Given the description of an element on the screen output the (x, y) to click on. 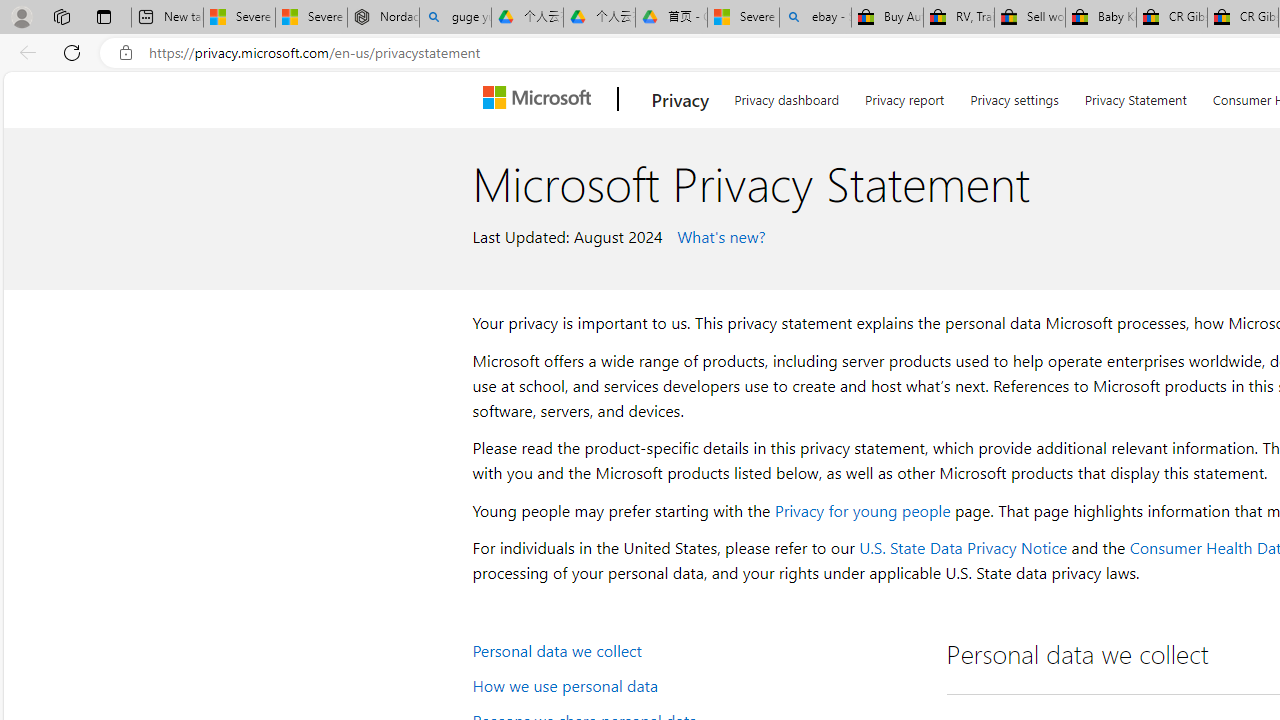
Privacy for young people (862, 509)
U.S. State Data Privacy Notice (962, 547)
